Given the description of an element on the screen output the (x, y) to click on. 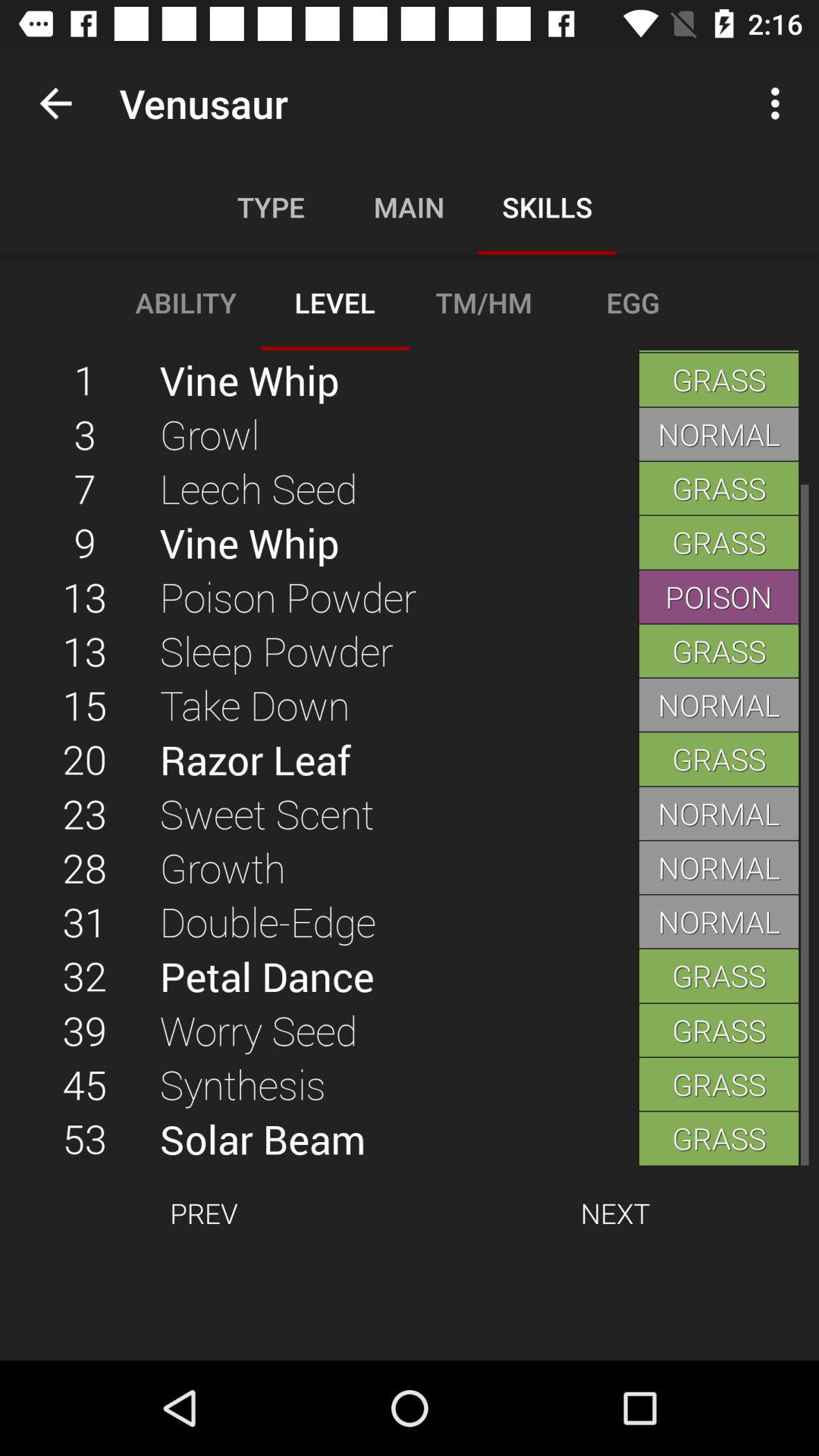
launch prev icon (203, 1212)
